Given the description of an element on the screen output the (x, y) to click on. 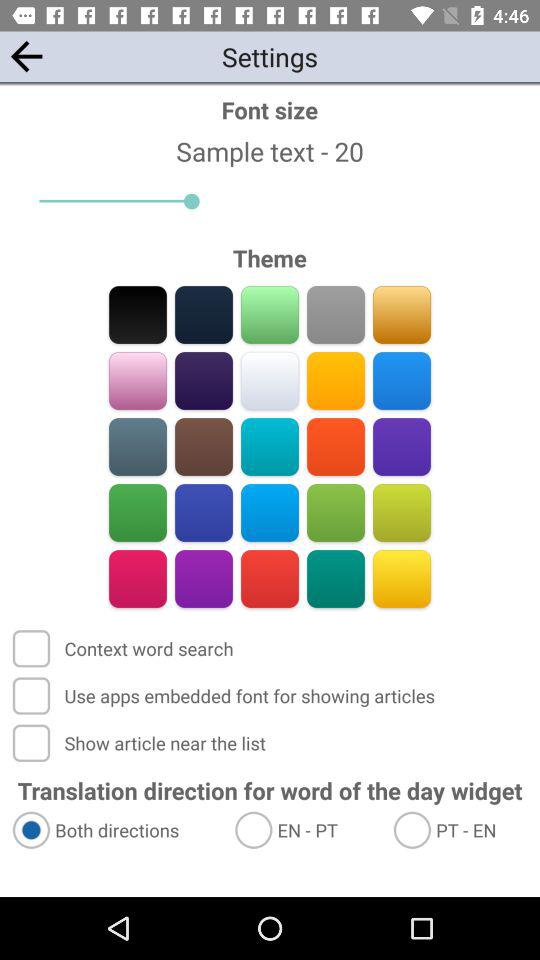
select a theme color (137, 446)
